Given the description of an element on the screen output the (x, y) to click on. 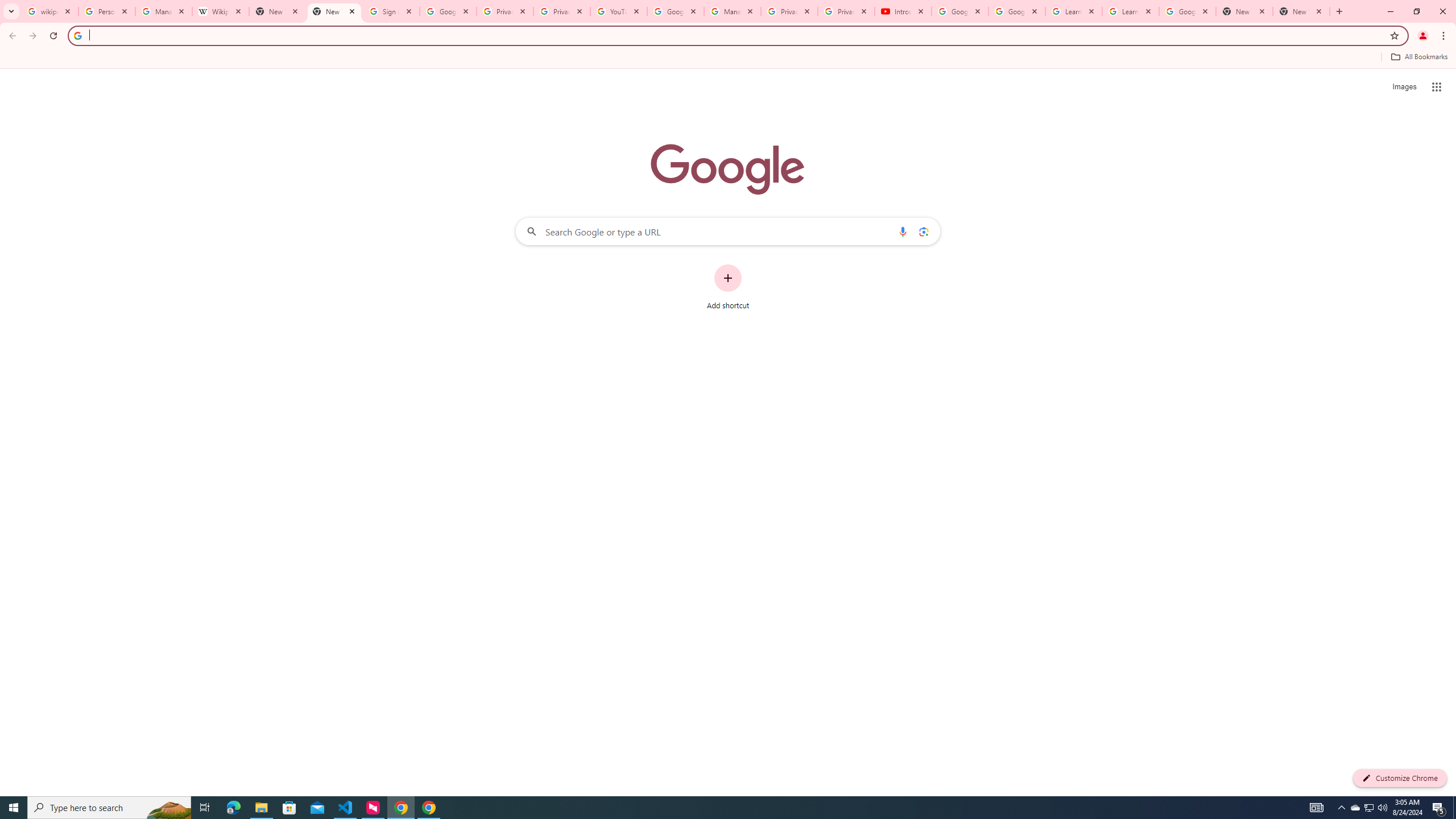
Search icon (77, 35)
Search by image (922, 230)
Bookmarks (728, 58)
Google Account Help (1015, 11)
Customize Chrome (1399, 778)
Introduction | Google Privacy Policy - YouTube (902, 11)
Wikipedia:Edit requests - Wikipedia (220, 11)
